Given the description of an element on the screen output the (x, y) to click on. 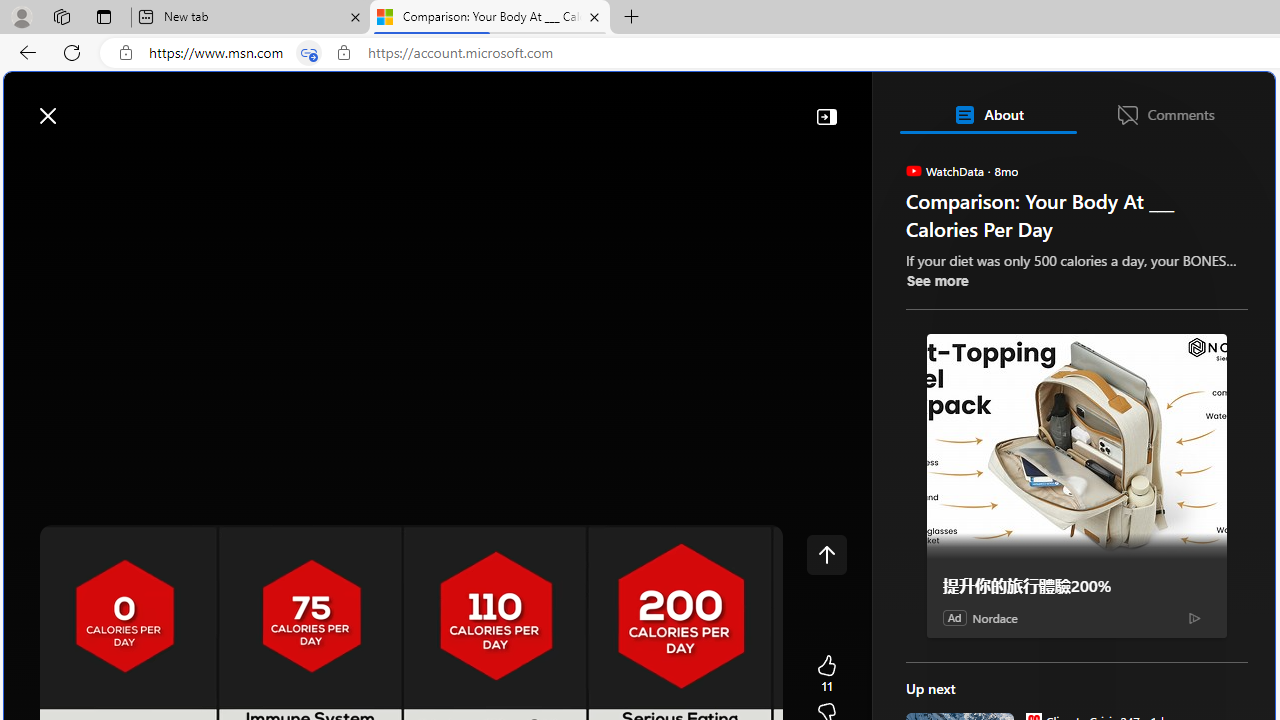
11 Like (826, 673)
WatchData (912, 170)
Microsoft rewards (1151, 105)
Enter your search term (644, 106)
Skip to footer (82, 105)
About (987, 114)
Discover (91, 162)
Tab actions menu (104, 16)
Microsoft Start (94, 105)
Web search (283, 105)
Refresh (72, 52)
